Given the description of an element on the screen output the (x, y) to click on. 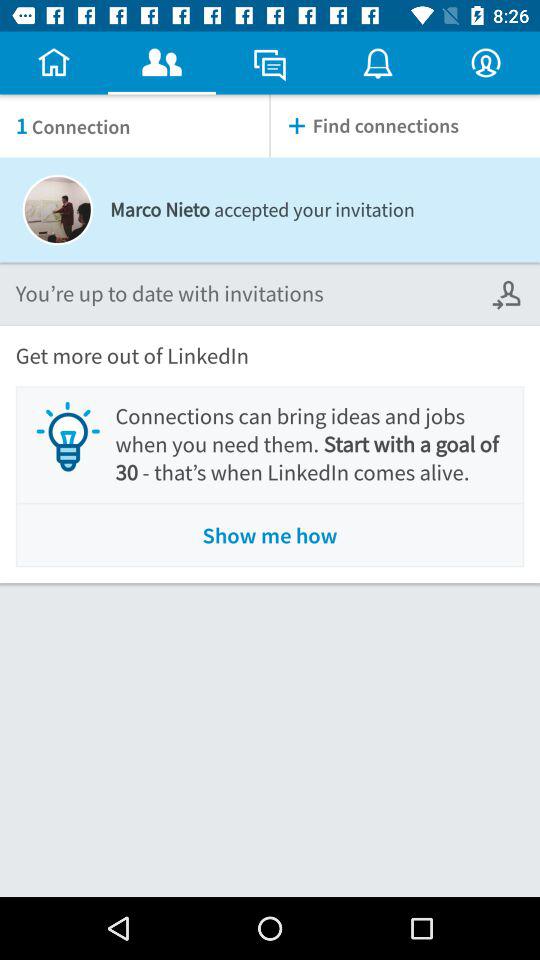
click find connections item (405, 125)
